Given the description of an element on the screen output the (x, y) to click on. 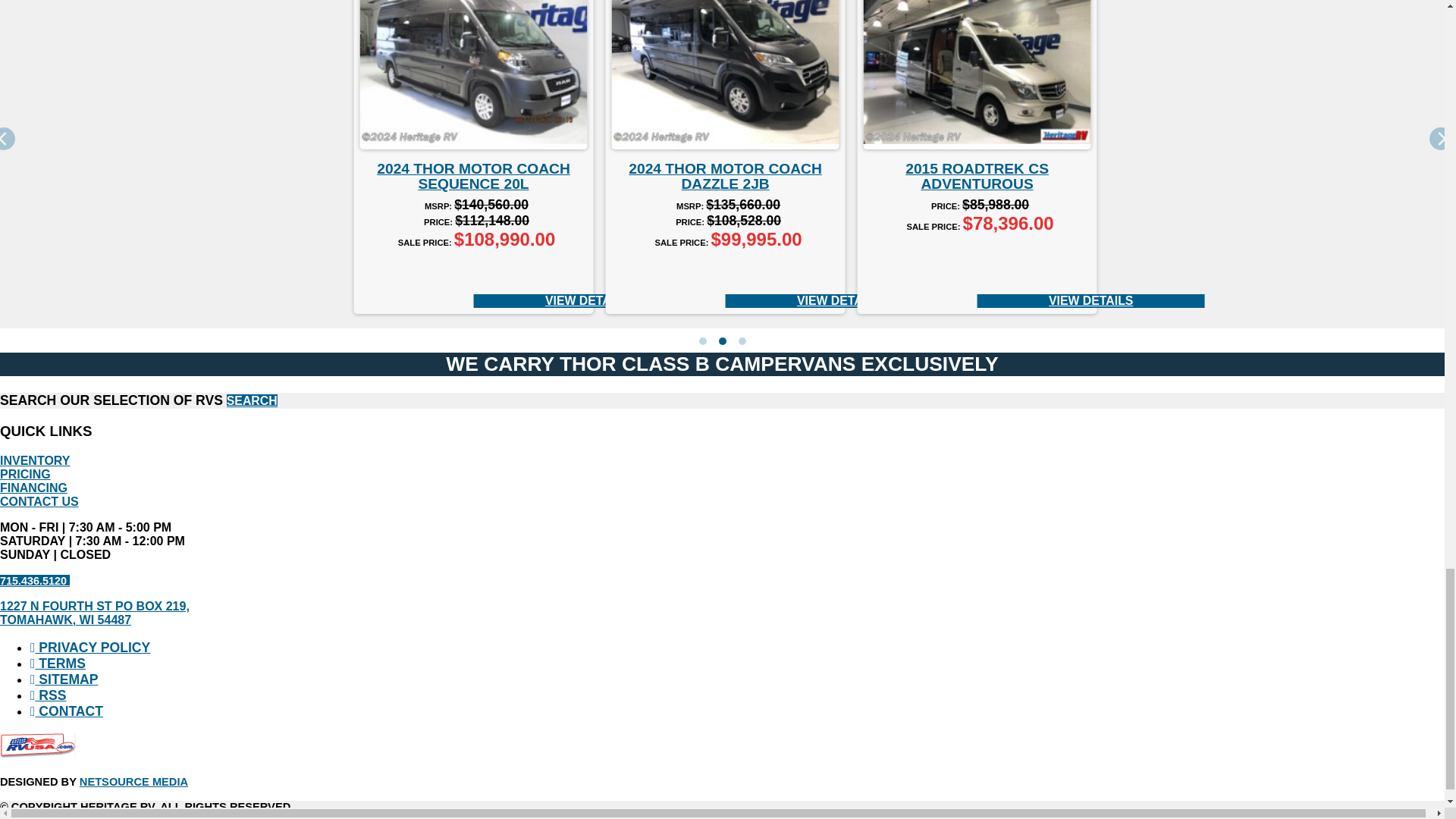
2015 Roadtrek CS Adventurous (976, 74)
Financing (33, 487)
Pricing (25, 473)
2024 Thor Motor Coach Sequence 20L (473, 74)
2024 Thor Motor Coach Dazzle 2JB (725, 74)
Inventory (34, 460)
